Given the description of an element on the screen output the (x, y) to click on. 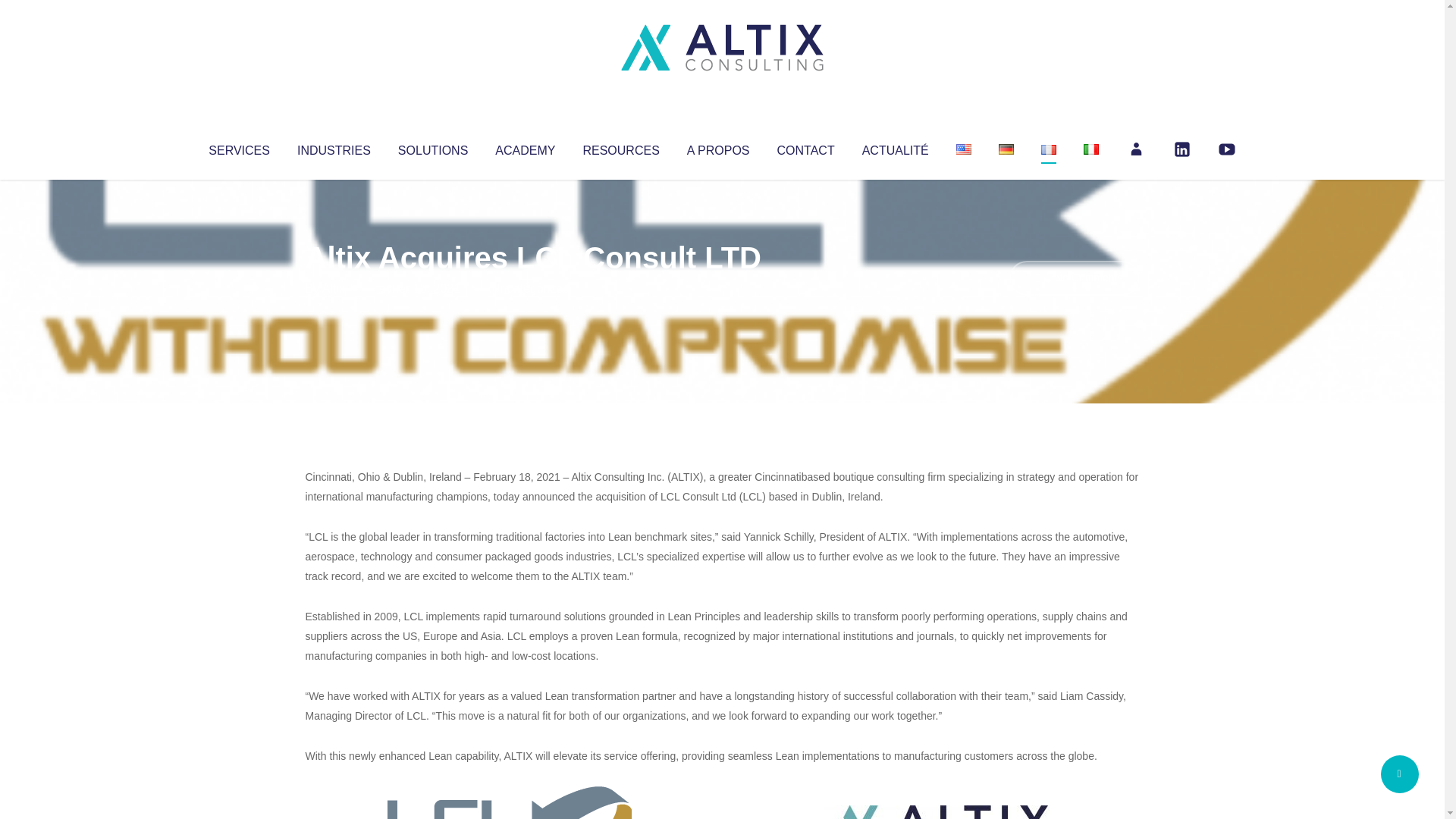
A PROPOS (718, 146)
RESOURCES (620, 146)
SOLUTIONS (432, 146)
INDUSTRIES (334, 146)
No Comments (1073, 278)
Articles par Altix (333, 287)
Uncategorized (530, 287)
ACADEMY (524, 146)
SERVICES (238, 146)
Altix (333, 287)
